Given the description of an element on the screen output the (x, y) to click on. 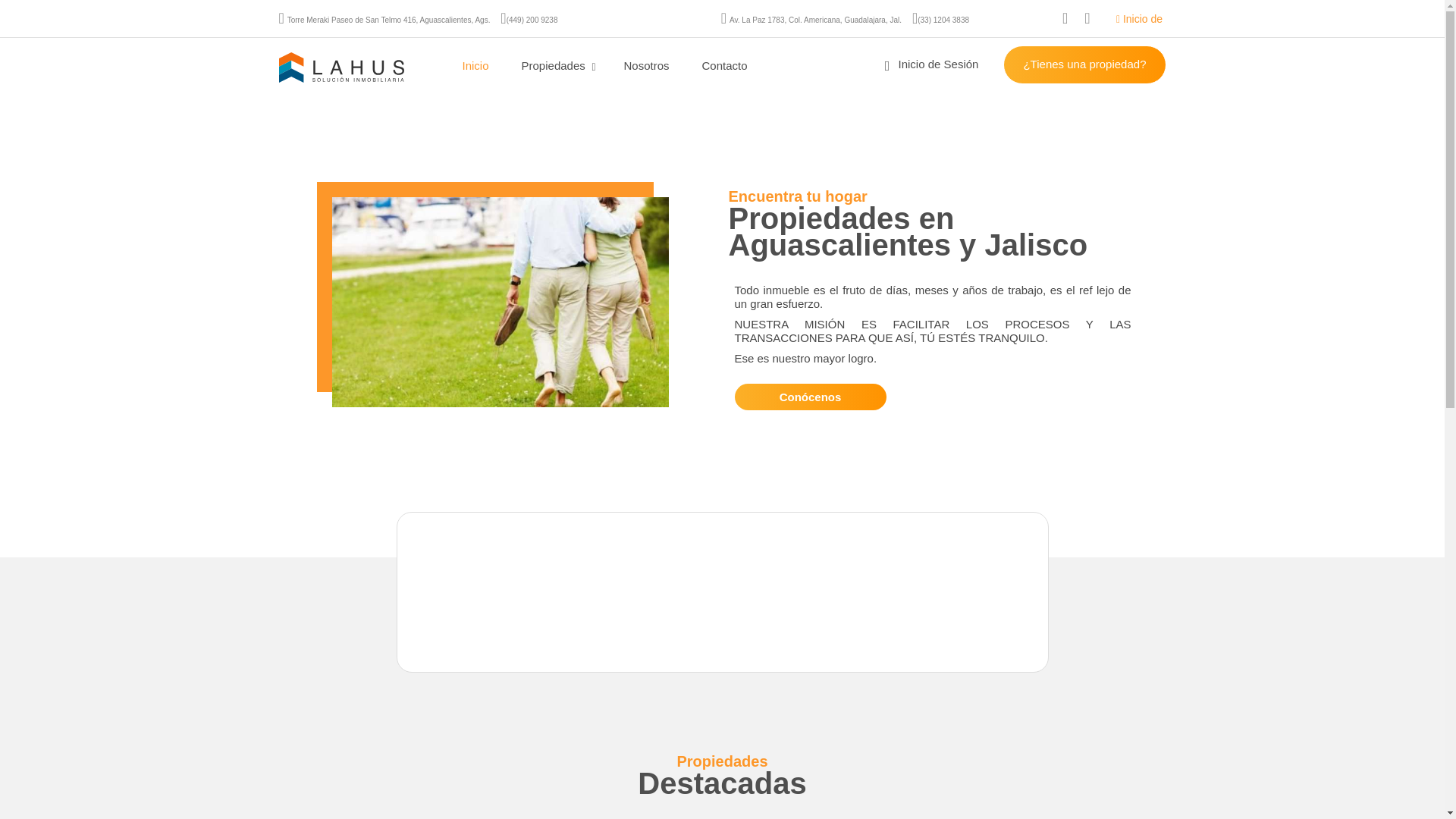
Contacto (724, 65)
Propiedades (555, 65)
Inicio (476, 65)
Torre Meraki Paseo de San Telmo 416, Aguascalientes, Ags. (388, 19)
Nosotros (646, 65)
Av. La Paz 1783, Col. Americana, Guadalajara, Jal. (814, 19)
